Given the description of an element on the screen output the (x, y) to click on. 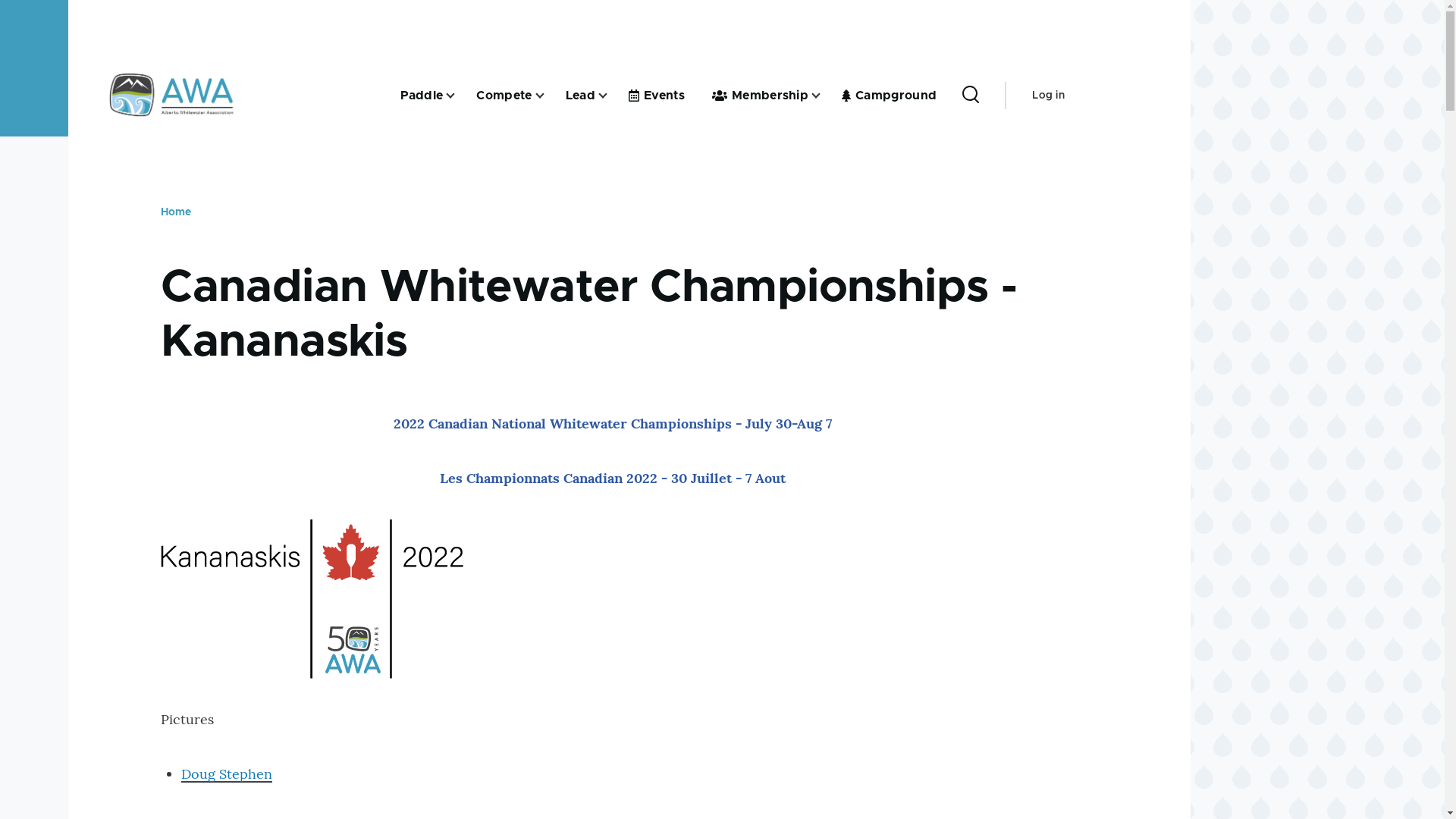
Events Element type: text (656, 94)
Log in Element type: text (1048, 95)
Lead Element type: text (580, 94)
Home Element type: text (175, 212)
Paddle Element type: text (421, 94)
Campground Element type: text (888, 94)
Compete Element type: text (503, 94)
Skip to main content Element type: text (595, 6)
Doug Stephen Element type: text (226, 773)
Search Element type: text (953, 236)
Membership Element type: text (760, 94)
